Given the description of an element on the screen output the (x, y) to click on. 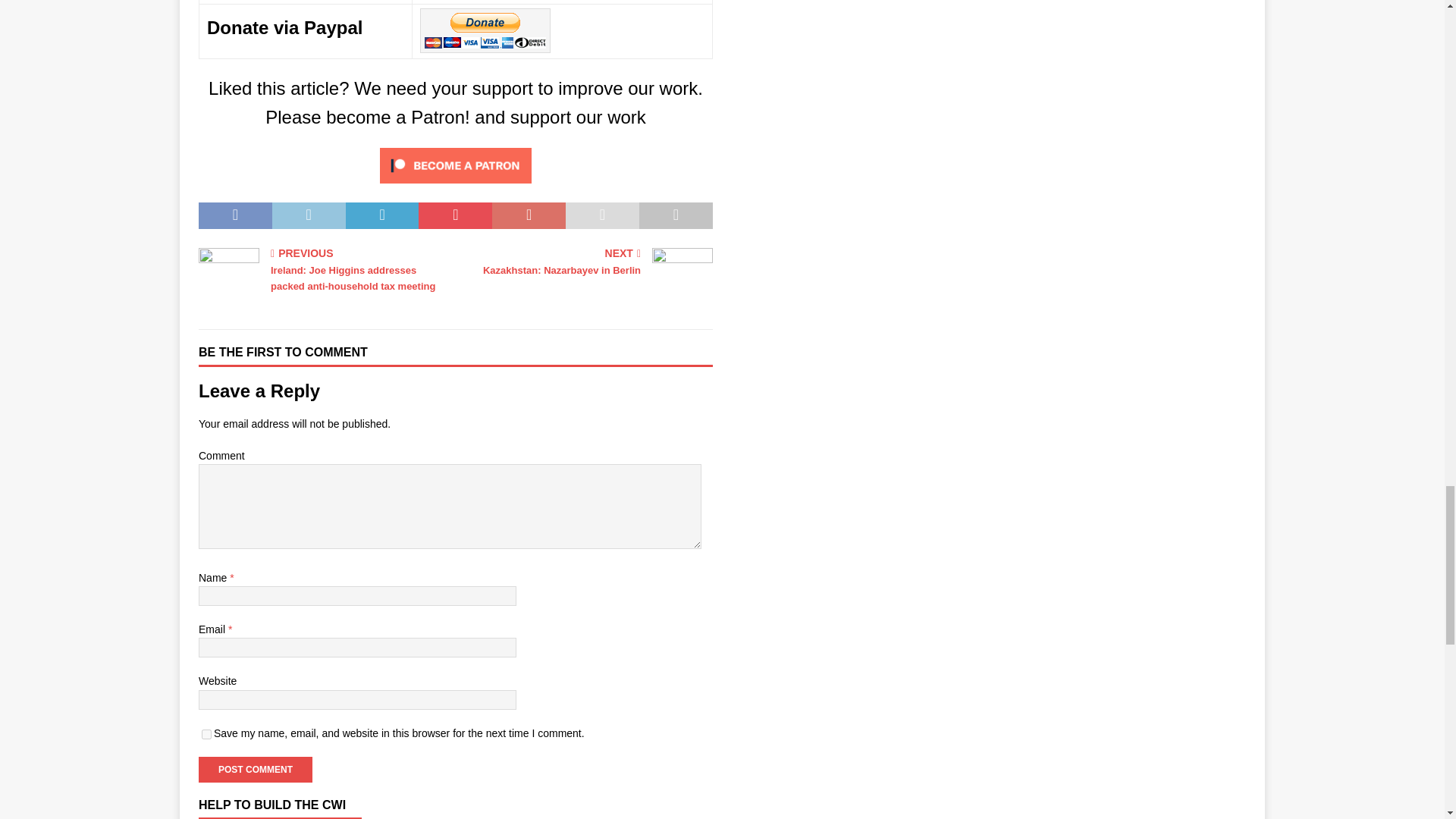
Post Comment (255, 769)
PayPal - The safer, easier way to pay online! (485, 30)
yes (206, 734)
